Given the description of an element on the screen output the (x, y) to click on. 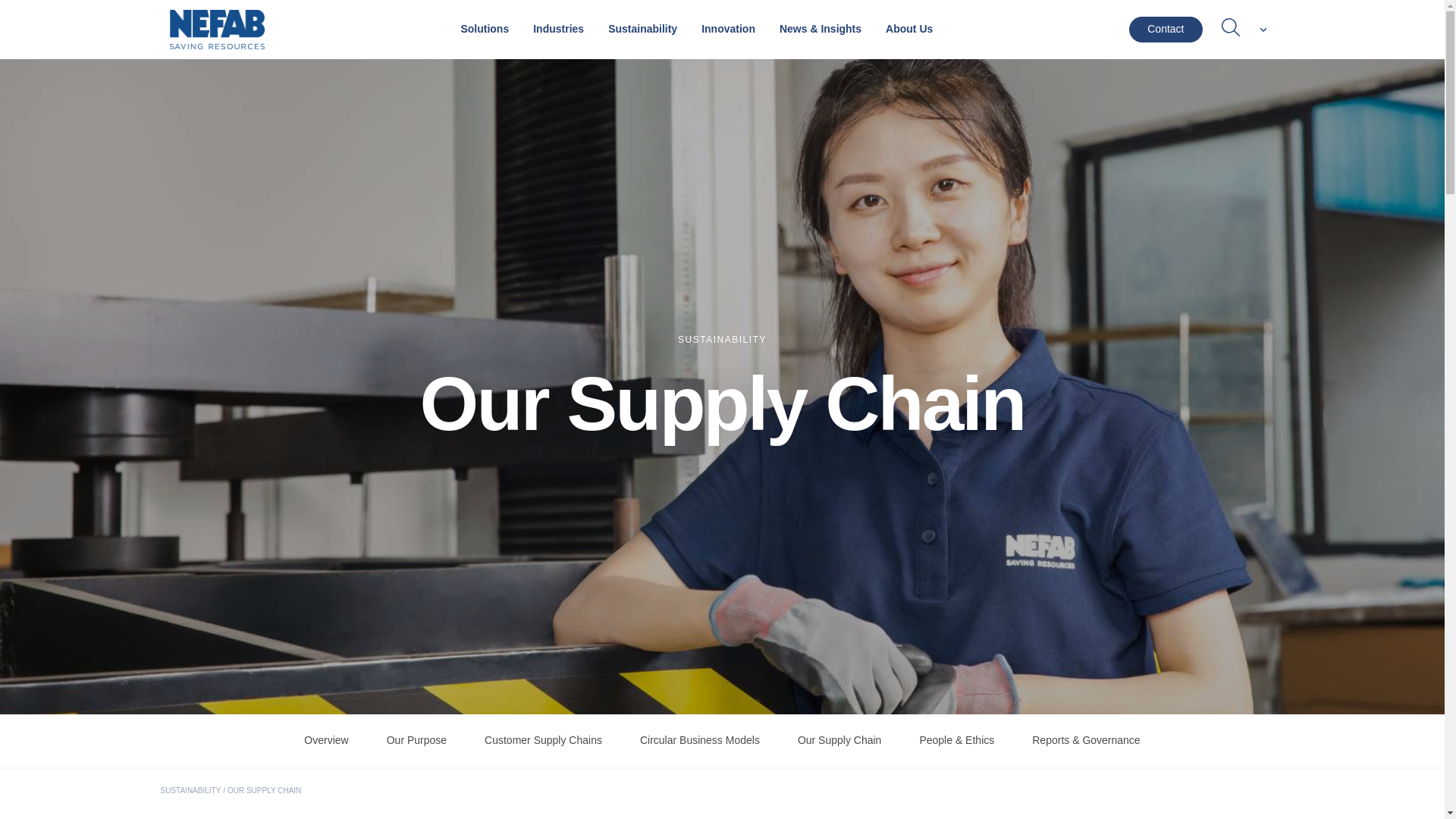
Innovation (727, 29)
Solutions (484, 29)
Industries (558, 29)
Sustainability (641, 29)
